Given the description of an element on the screen output the (x, y) to click on. 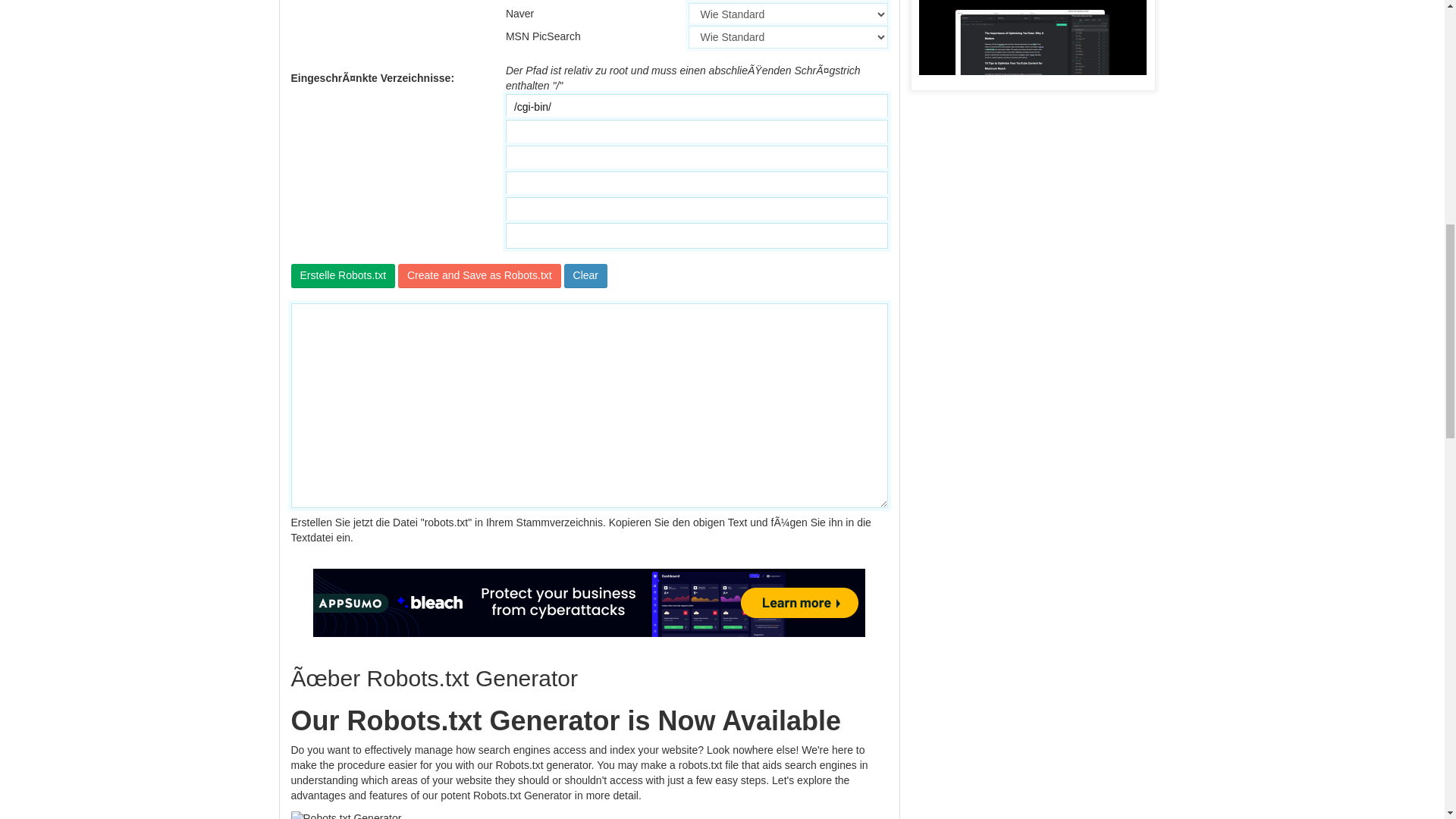
Clear (585, 275)
Create and Save as Robots.txt (478, 275)
Erstelle Robots.txt (343, 275)
